Given the description of an element on the screen output the (x, y) to click on. 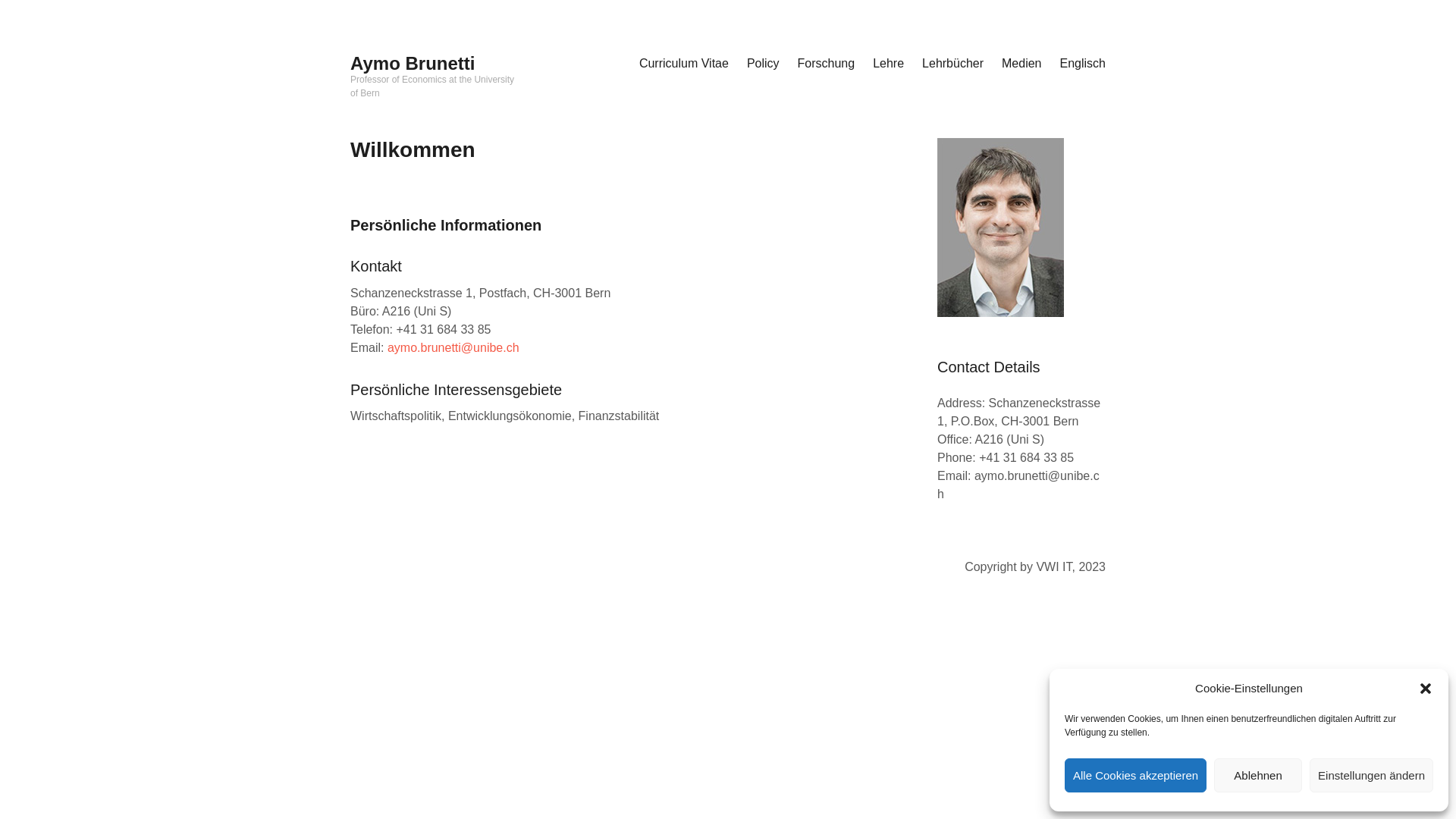
Alle Cookies akzeptieren Element type: text (1135, 775)
Ablehnen Element type: text (1258, 775)
aymo.brunetti@unibe.ch Element type: text (453, 347)
Aymo Brunetti Element type: text (412, 63)
Curriculum Vitae Element type: text (683, 63)
Medien Element type: text (1021, 63)
Policy Element type: text (762, 63)
aymo.brunetti@unibe.ch Element type: text (1018, 483)
Lehre Element type: text (888, 63)
Englisch Element type: text (1082, 63)
Forschung Element type: text (826, 63)
